Given the description of an element on the screen output the (x, y) to click on. 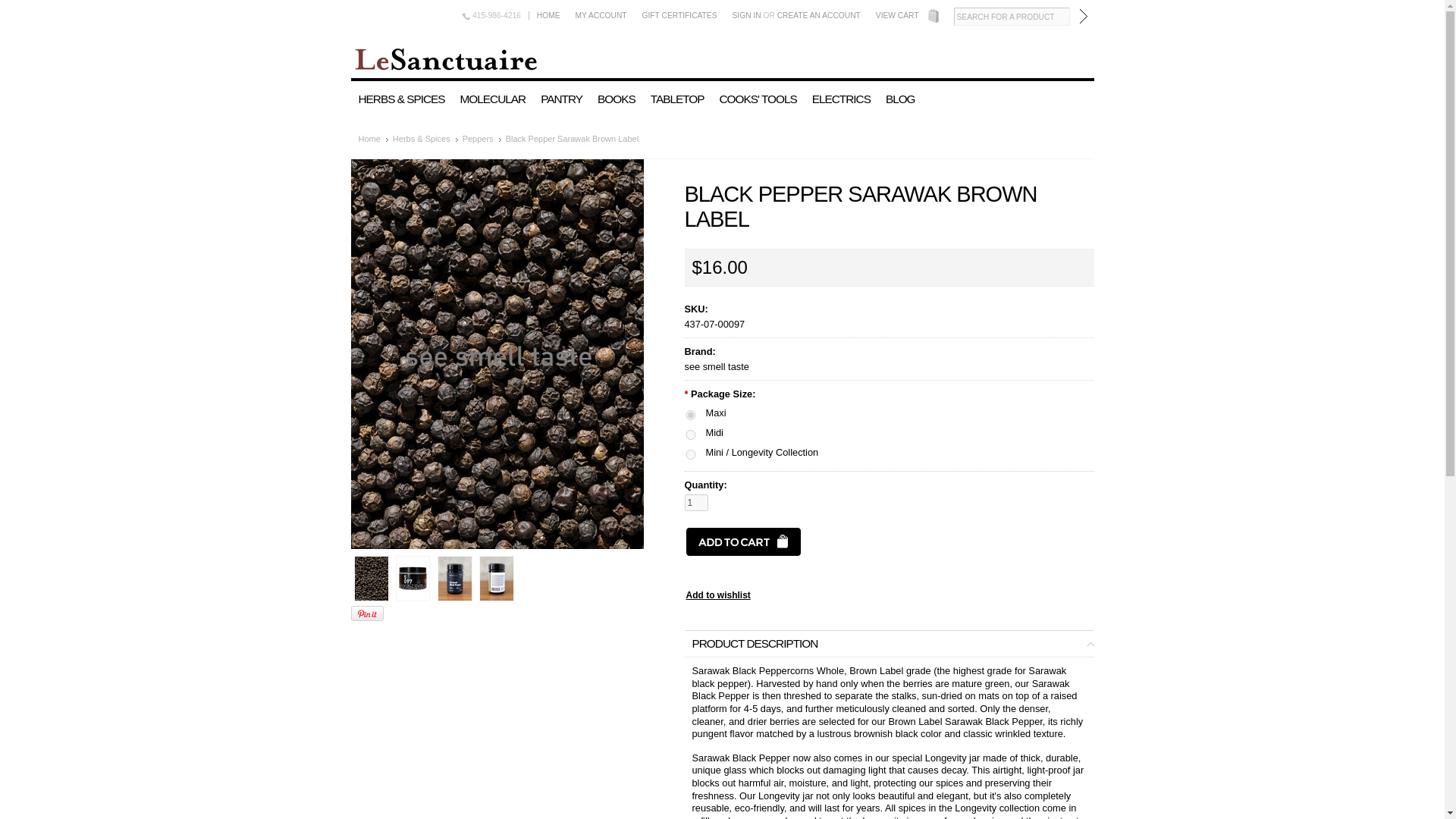
73 (690, 454)
CREATE AN ACCOUNT (818, 15)
Peppers (481, 138)
SIGN IN (746, 15)
MY ACCOUNT (600, 15)
VIEW CART (896, 15)
75 (690, 415)
Image 1 (370, 578)
Midi (412, 578)
HOME (548, 15)
GIFT CERTIFICATES (679, 15)
BLOG (900, 99)
Add to wishlist (717, 594)
see smell taste (716, 366)
Add to wishlist (717, 594)
